Given the description of an element on the screen output the (x, y) to click on. 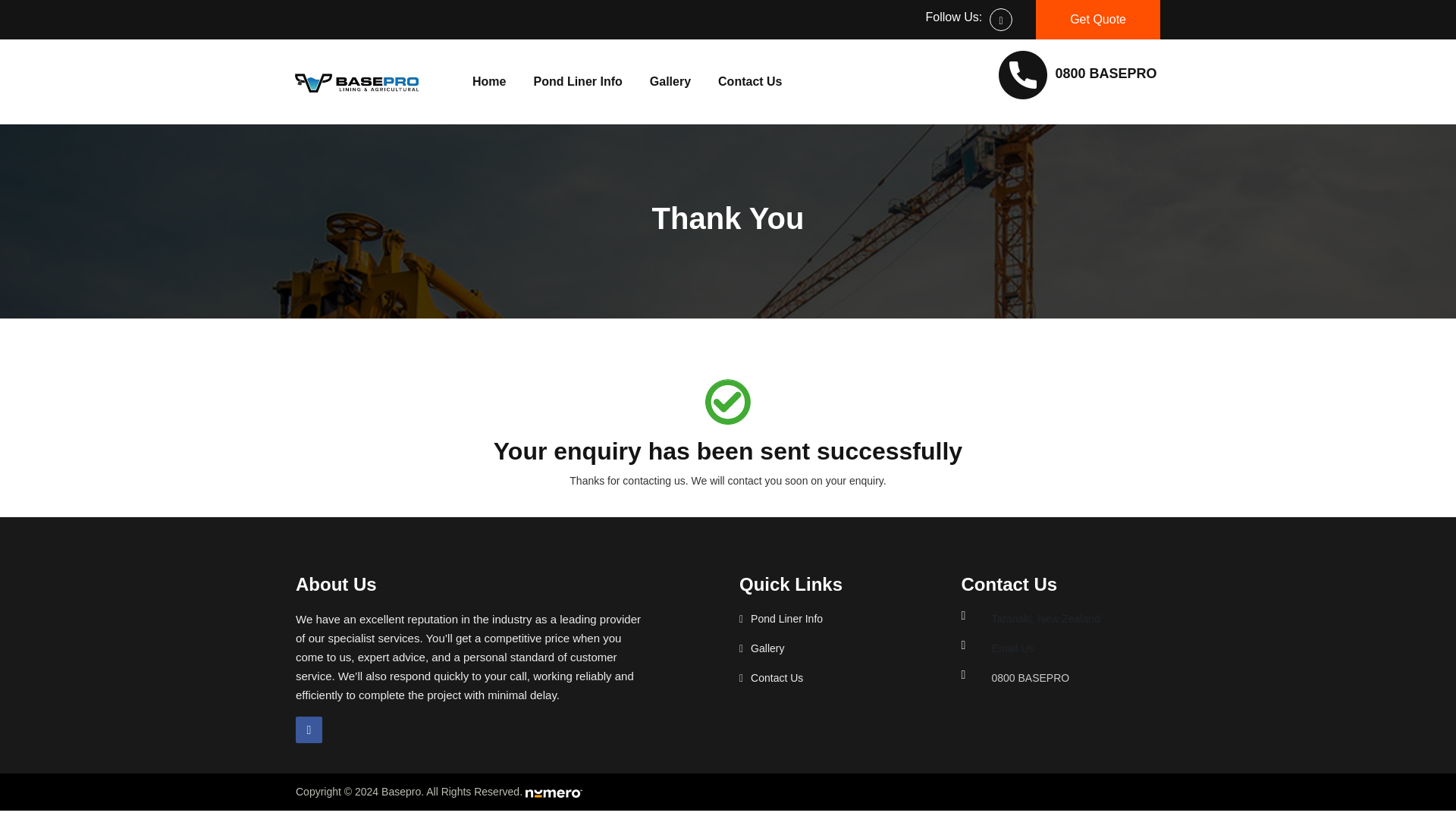
Pond Liner Info (576, 81)
Email Us (1012, 648)
Contact Us (749, 81)
Pond Liner Info (786, 618)
Facebook (308, 729)
Taranaki, New Zealand (1045, 618)
Gallery (670, 81)
0800 BASEPRO (1105, 73)
Home (488, 81)
0800 BASEPRO (1029, 677)
Gallery (670, 81)
Contact Us (749, 81)
Contact Us (777, 677)
Get Quote (1097, 19)
Home (488, 81)
